Given the description of an element on the screen output the (x, y) to click on. 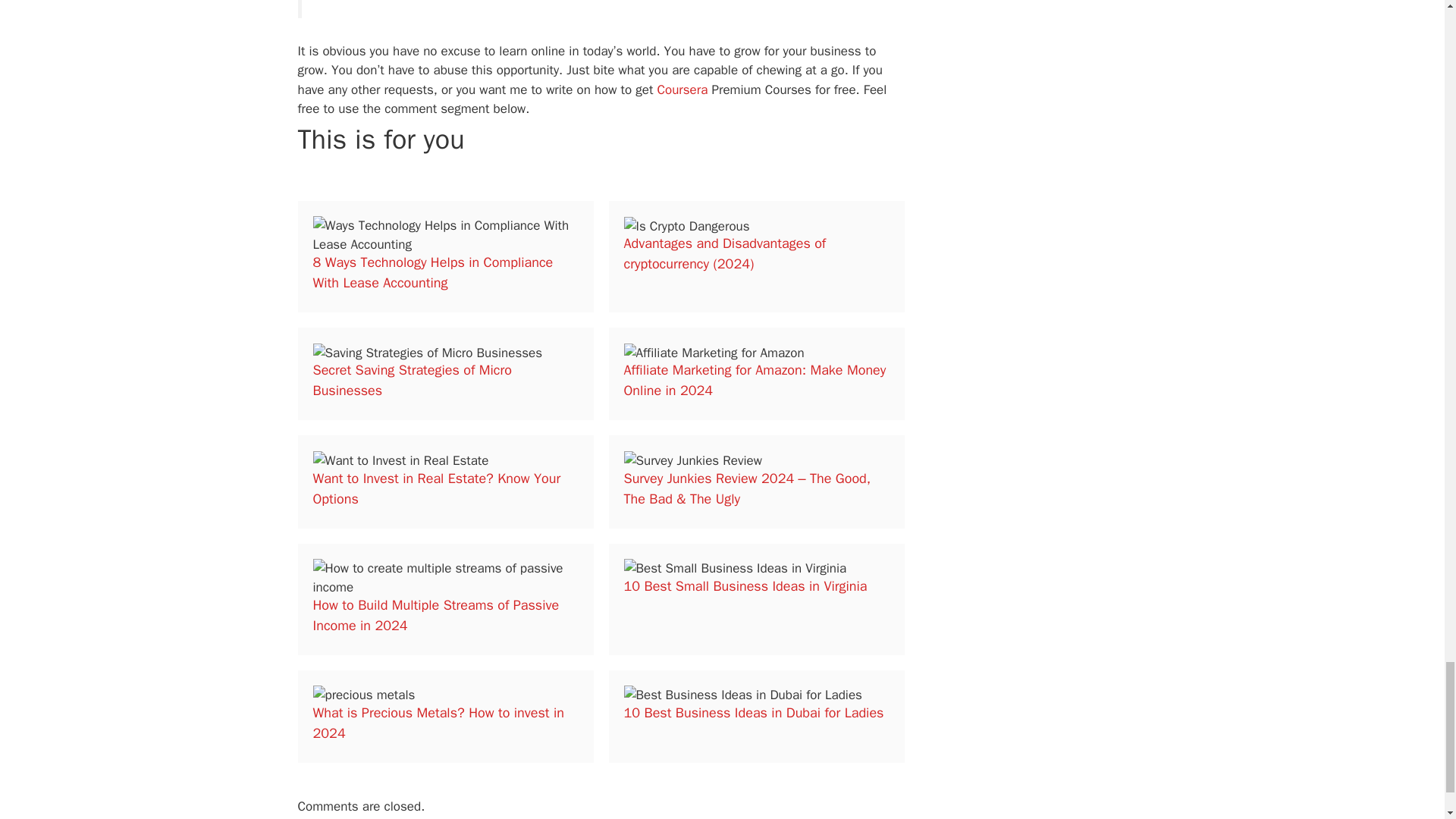
Want to Invest in Real Estate? Know Your Options (436, 488)
8 Ways Technology Helps in Compliance With Lease Accounting (433, 272)
Coursera (681, 89)
Benjamin Franklin (376, 0)
How to Build Multiple Streams of Passive Income in 2024 (436, 615)
Affiliate Marketing for Amazon: Make Money Online in 2024 (754, 379)
Secret Saving Strategies of Micro Businesses (412, 379)
